Given the description of an element on the screen output the (x, y) to click on. 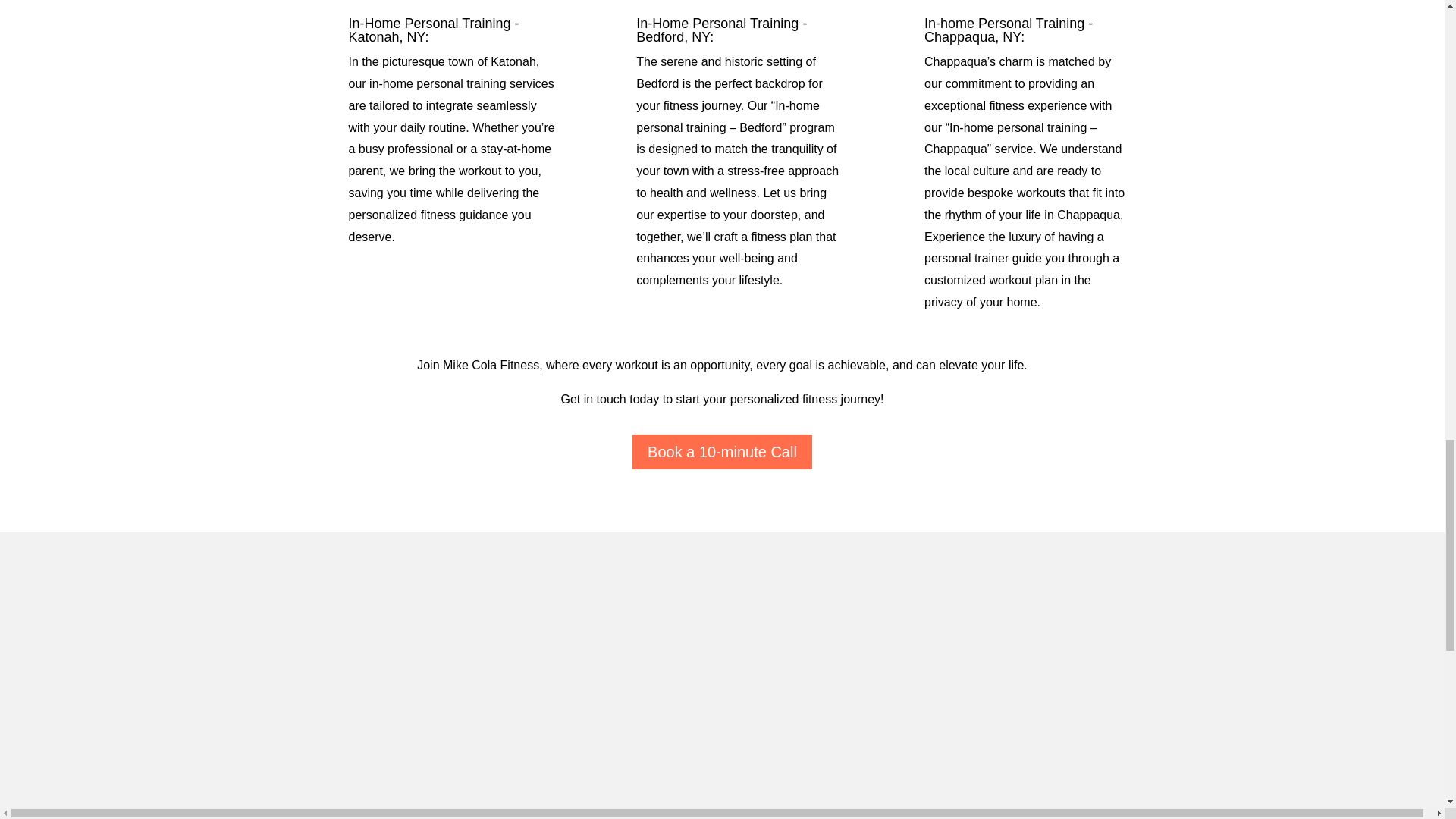
Book a 10-minute Call (721, 451)
